Given the description of an element on the screen output the (x, y) to click on. 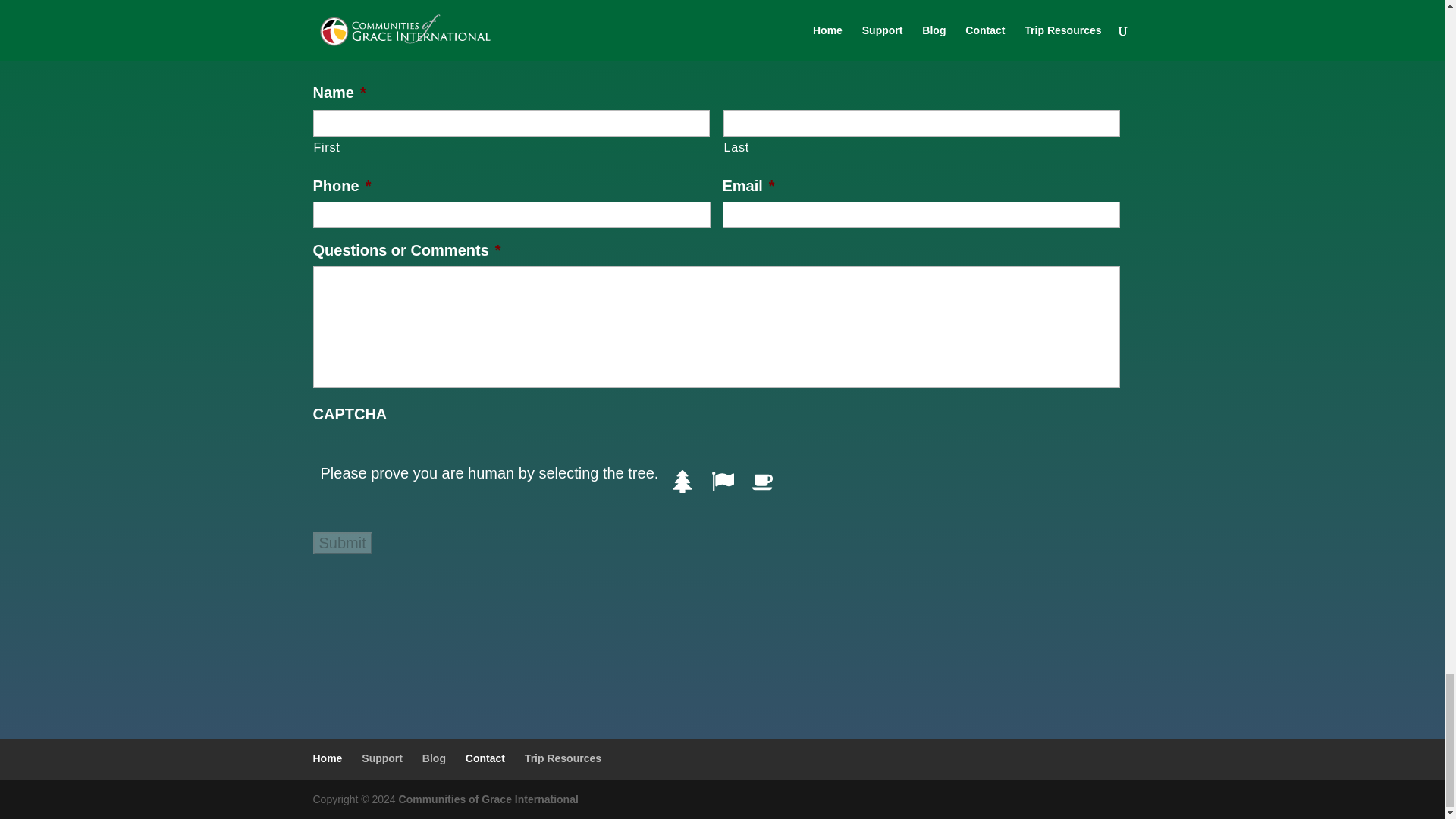
Contact (485, 758)
Home (327, 758)
Communities of Grace International (488, 799)
Submit (342, 543)
Submit (342, 543)
Trip Resources (562, 758)
Blog (433, 758)
919-606-4847 (721, 15)
Support (382, 758)
